Given the description of an element on the screen output the (x, y) to click on. 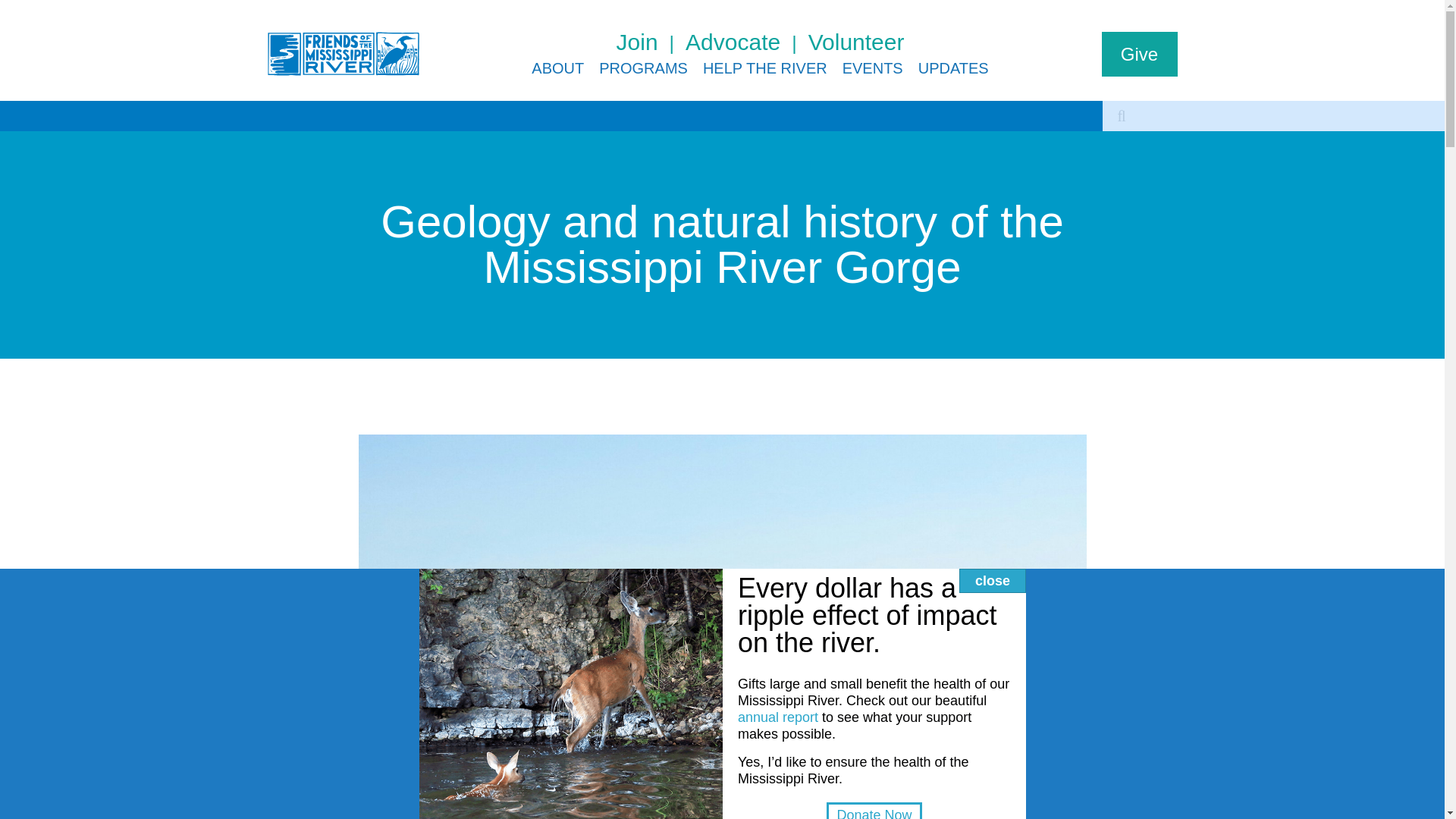
Give (1138, 53)
HELP THE RIVER (764, 68)
PROGRAMS (643, 68)
UPDATES (953, 68)
ABOUT (557, 68)
Join (650, 42)
Volunteer (856, 42)
Search (1120, 115)
EVENTS (872, 68)
